Given the description of an element on the screen output the (x, y) to click on. 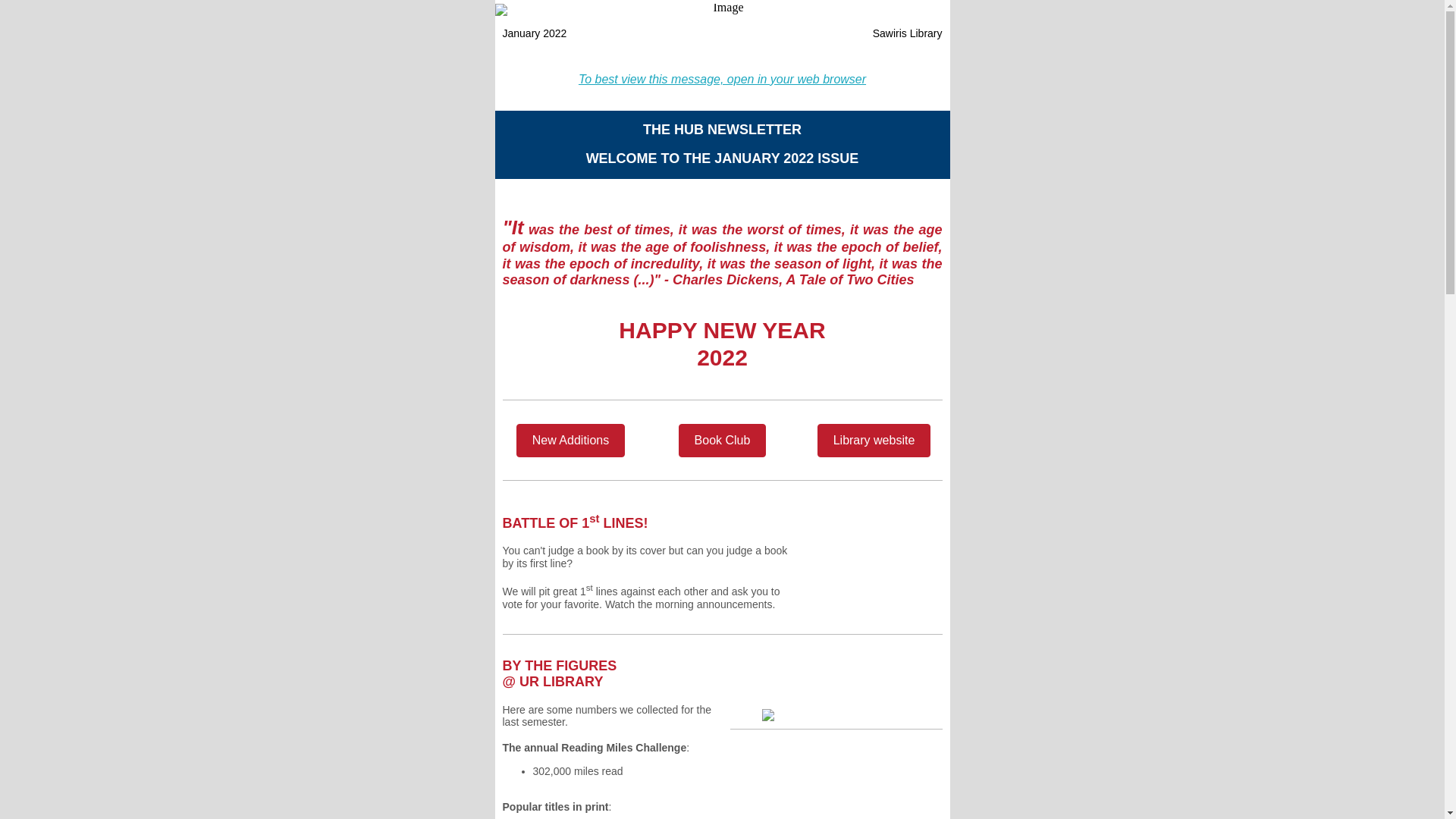
New Additions (570, 440)
Book Club (722, 440)
Library website (873, 440)
Image (722, 9)
To best view this message, open in your web browser (722, 78)
